Given the description of an element on the screen output the (x, y) to click on. 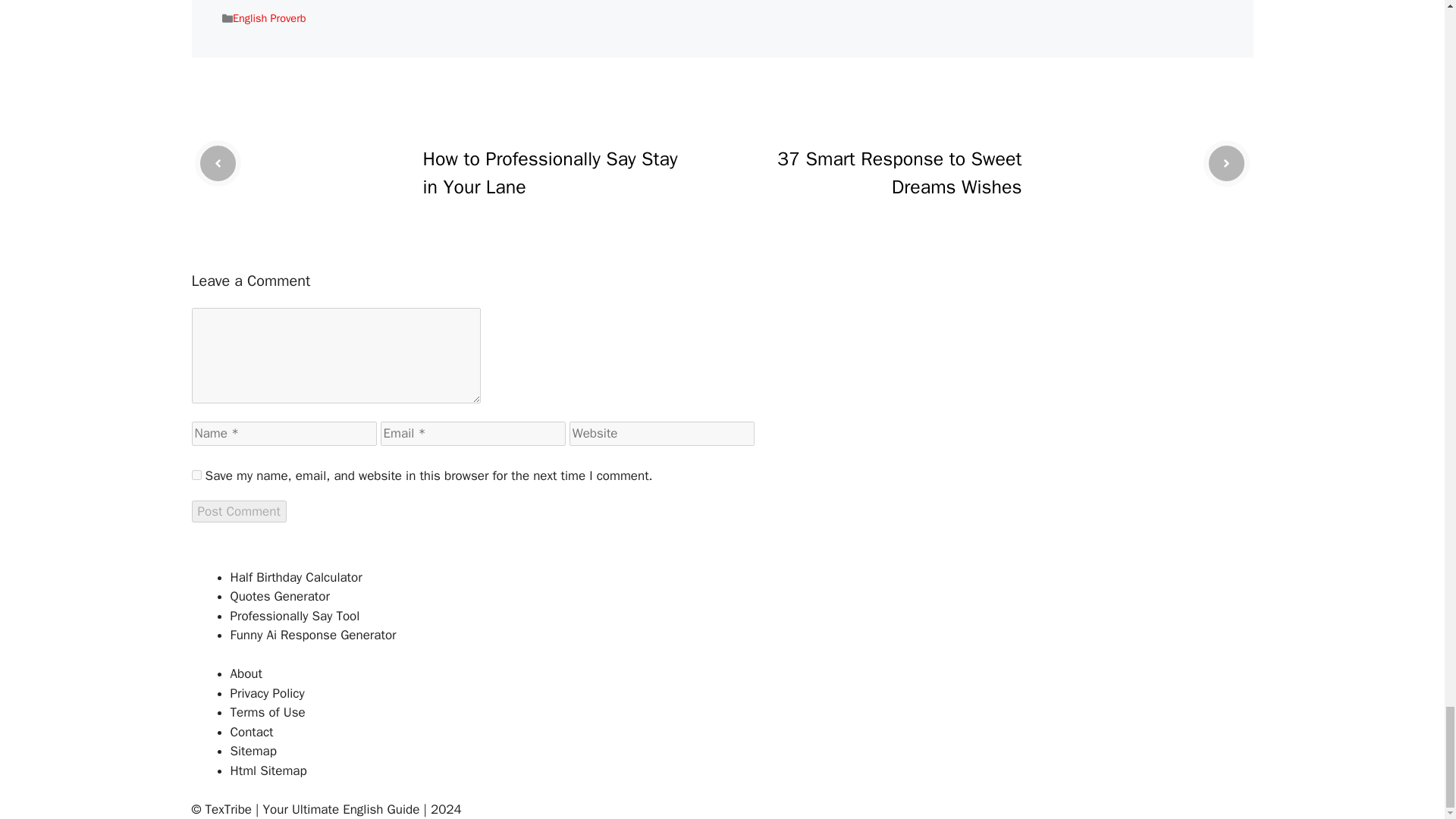
Post Comment (237, 511)
yes (195, 474)
